Given the description of an element on the screen output the (x, y) to click on. 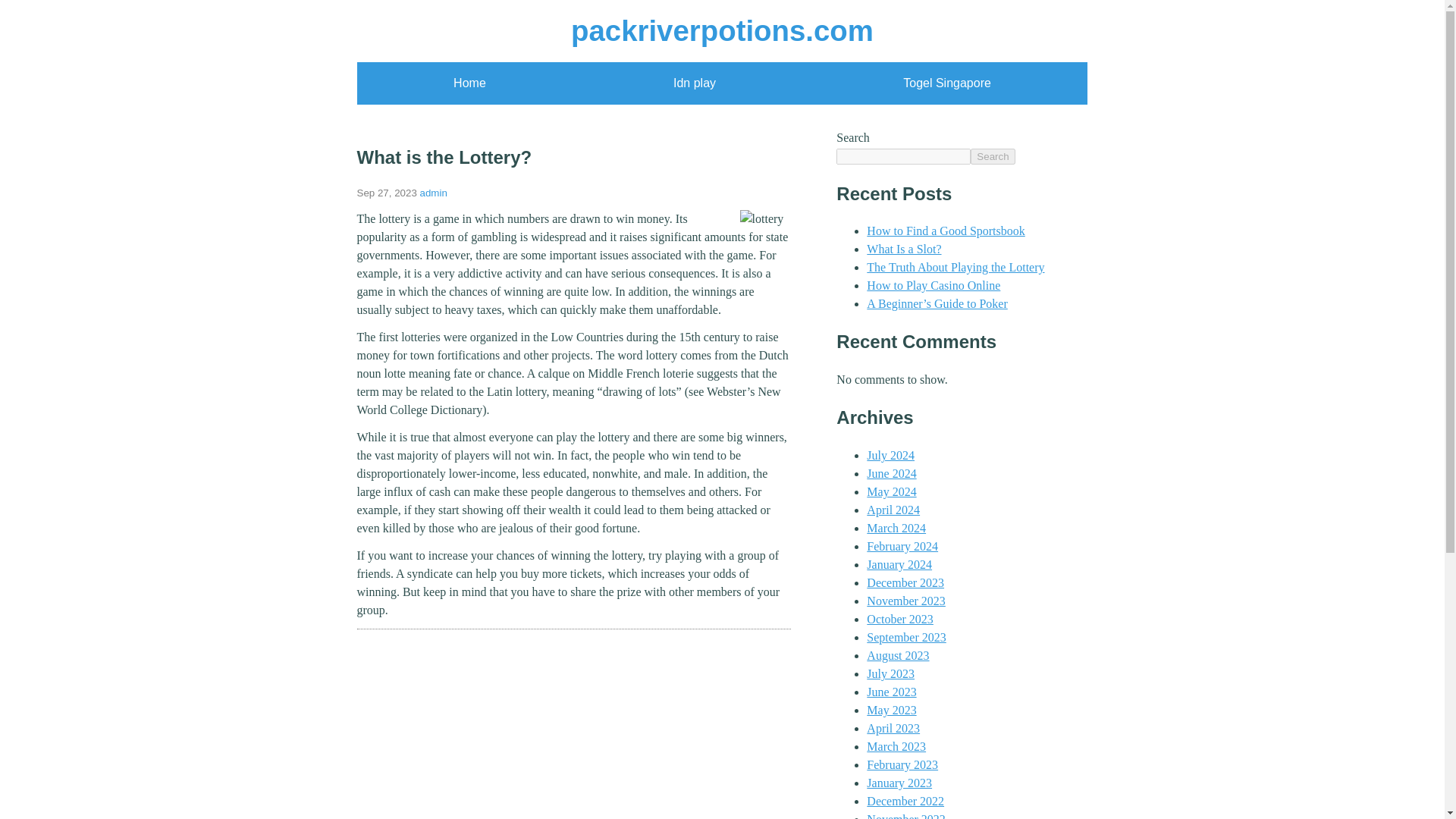
February 2023 (901, 764)
Togel Singapore (946, 82)
Search (992, 156)
April 2024 (893, 509)
February 2024 (901, 545)
Home (469, 82)
April 2023 (893, 727)
May 2024 (890, 491)
June 2023 (890, 691)
March 2024 (896, 527)
July 2024 (890, 454)
March 2023 (896, 746)
Idn play (694, 82)
December 2023 (904, 582)
packriverpotions.com (721, 30)
